Given the description of an element on the screen output the (x, y) to click on. 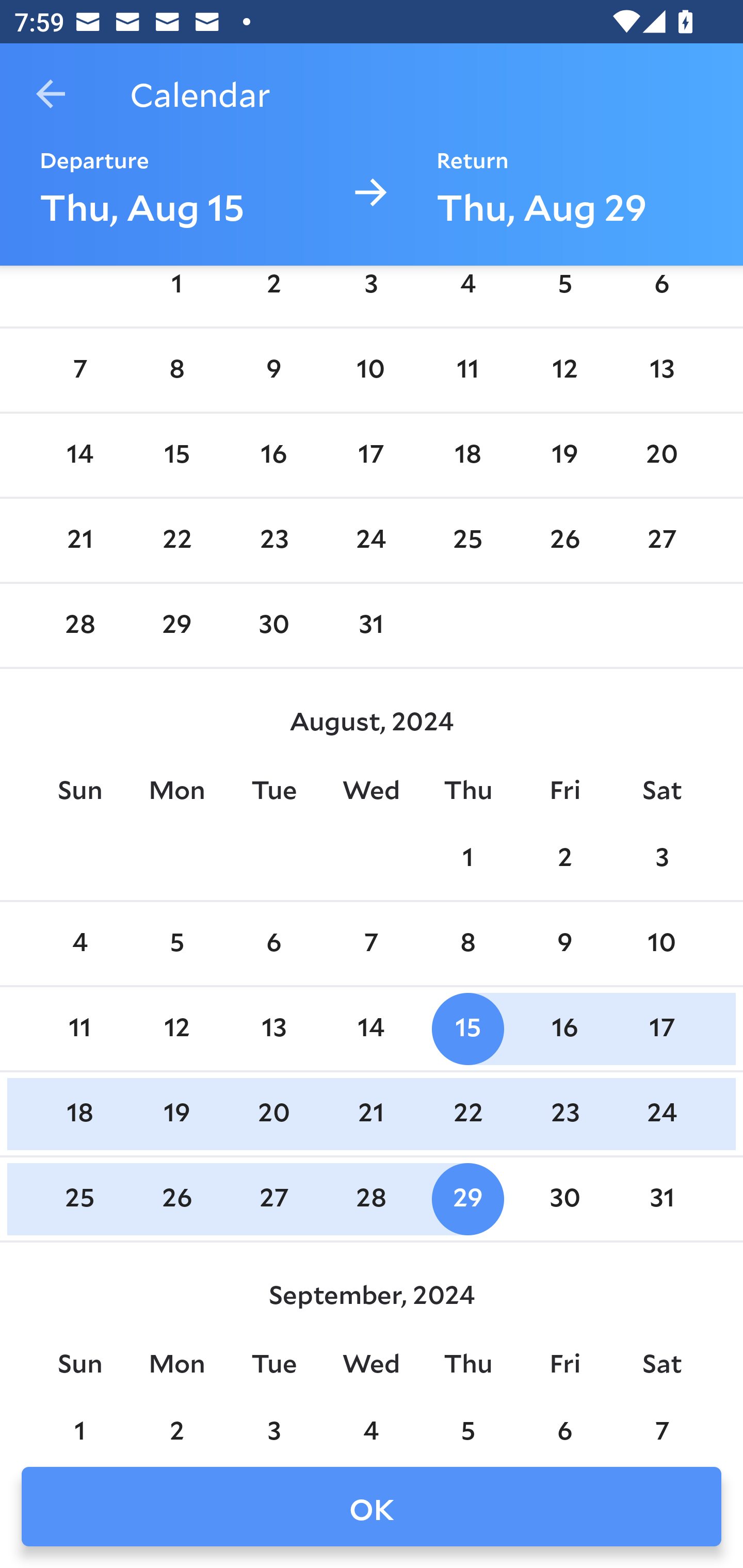
Navigate up (50, 93)
1 (177, 292)
2 (273, 292)
3 (371, 292)
4 (467, 292)
5 (565, 292)
6 (661, 292)
7 (79, 369)
8 (177, 369)
9 (273, 369)
10 (371, 369)
11 (467, 369)
12 (565, 369)
13 (661, 369)
14 (79, 454)
15 (177, 454)
16 (273, 454)
17 (371, 454)
18 (467, 454)
19 (565, 454)
20 (661, 454)
21 (79, 540)
22 (177, 540)
23 (273, 540)
24 (371, 540)
25 (467, 540)
26 (565, 540)
27 (661, 540)
28 (79, 625)
29 (177, 625)
30 (273, 625)
31 (371, 625)
1 (467, 859)
2 (565, 859)
3 (661, 859)
4 (79, 943)
5 (177, 943)
6 (273, 943)
7 (371, 943)
8 (467, 943)
9 (565, 943)
10 (661, 943)
11 (79, 1028)
12 (177, 1028)
13 (273, 1028)
14 (371, 1028)
15 (467, 1028)
16 (565, 1028)
17 (661, 1028)
18 (79, 1114)
